Given the description of an element on the screen output the (x, y) to click on. 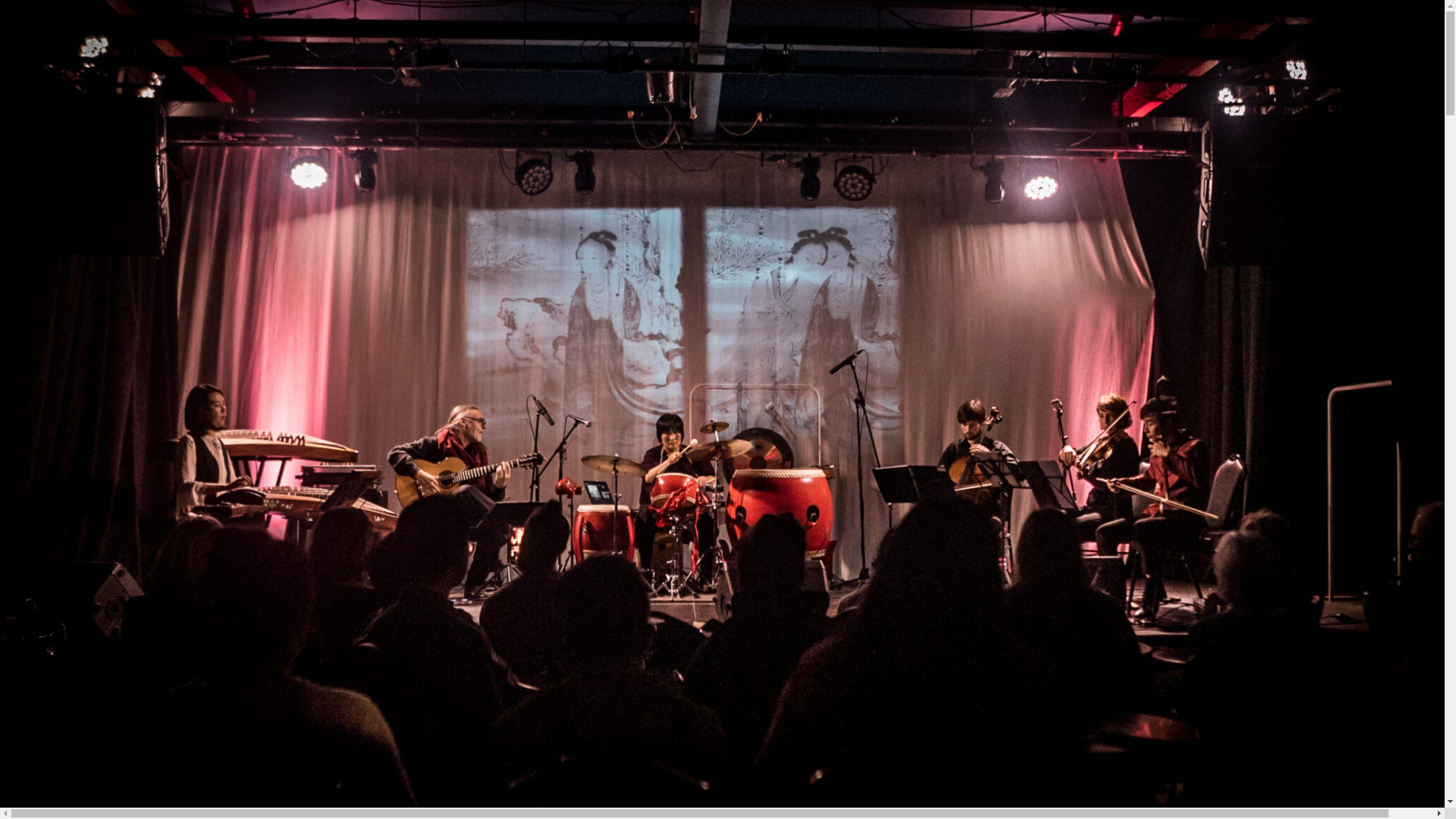
Search Element type: text (218, 112)
Find Us Element type: text (78, 488)
Covid-19 Policy Element type: text (97, 533)
Write Up Element type: text (80, 291)
Venue Hire Element type: text (86, 473)
Nexus Arts Orchestra Element type: text (110, 336)
Accessibility Element type: text (89, 412)
Nexus Arts Element type: hover (31, 6)
In_Site: Emerging First Nations Curator Element type: text (152, 275)
Digital Exhibitions Element type: text (102, 457)
Nexus Live Element type: text (86, 382)
See info & ticketing Element type: text (75, 762)
What we do Element type: text (58, 230)
Visit us Element type: text (47, 397)
Transport Element type: text (82, 503)
Interplay Element type: text (80, 260)
Events Element type: text (76, 215)
Artistic and Cultural Advisory Group Element type: text (144, 184)
Nexus Arts Podcast Element type: text (106, 306)
Menu Close Element type: text (34, 24)
Contact Element type: text (48, 83)
Studio Residencies Element type: text (105, 366)
About us Element type: text (51, 139)
Nexus Arts Gallery Element type: text (104, 442)
Support us Element type: text (55, 68)
Food + Drink Element type: text (91, 518)
Our Sound Element type: text (86, 351)
Nexus Arts Venue Element type: text (102, 427)
Our Team Element type: text (83, 169)
Fringe EOI Element type: text (86, 245)
About Nexus Arts Element type: text (101, 154)
What's on Element type: text (25, 562)
